Given the description of an element on the screen output the (x, y) to click on. 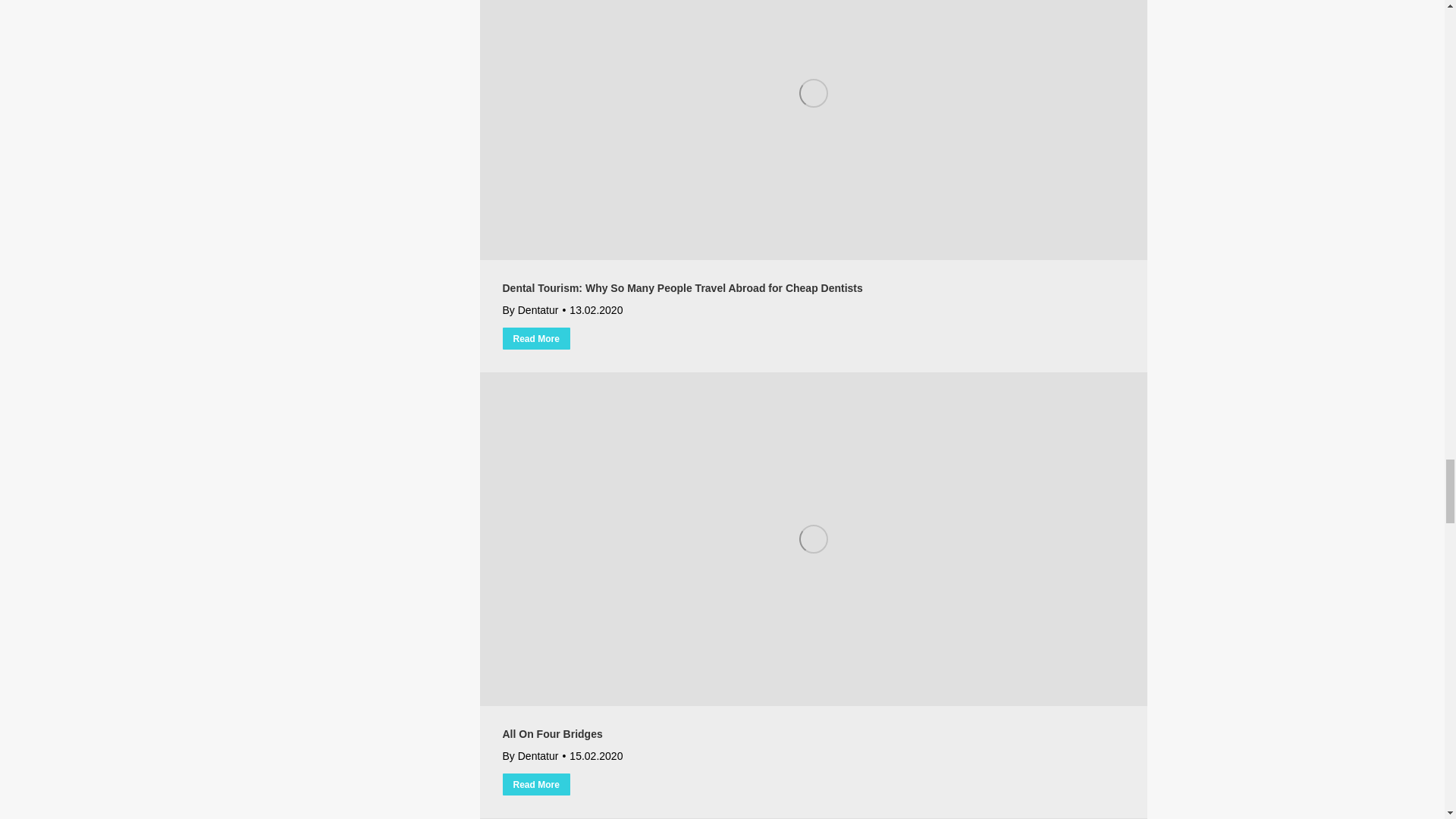
05:35 (592, 310)
View all posts by Dentatur (529, 310)
